Given the description of an element on the screen output the (x, y) to click on. 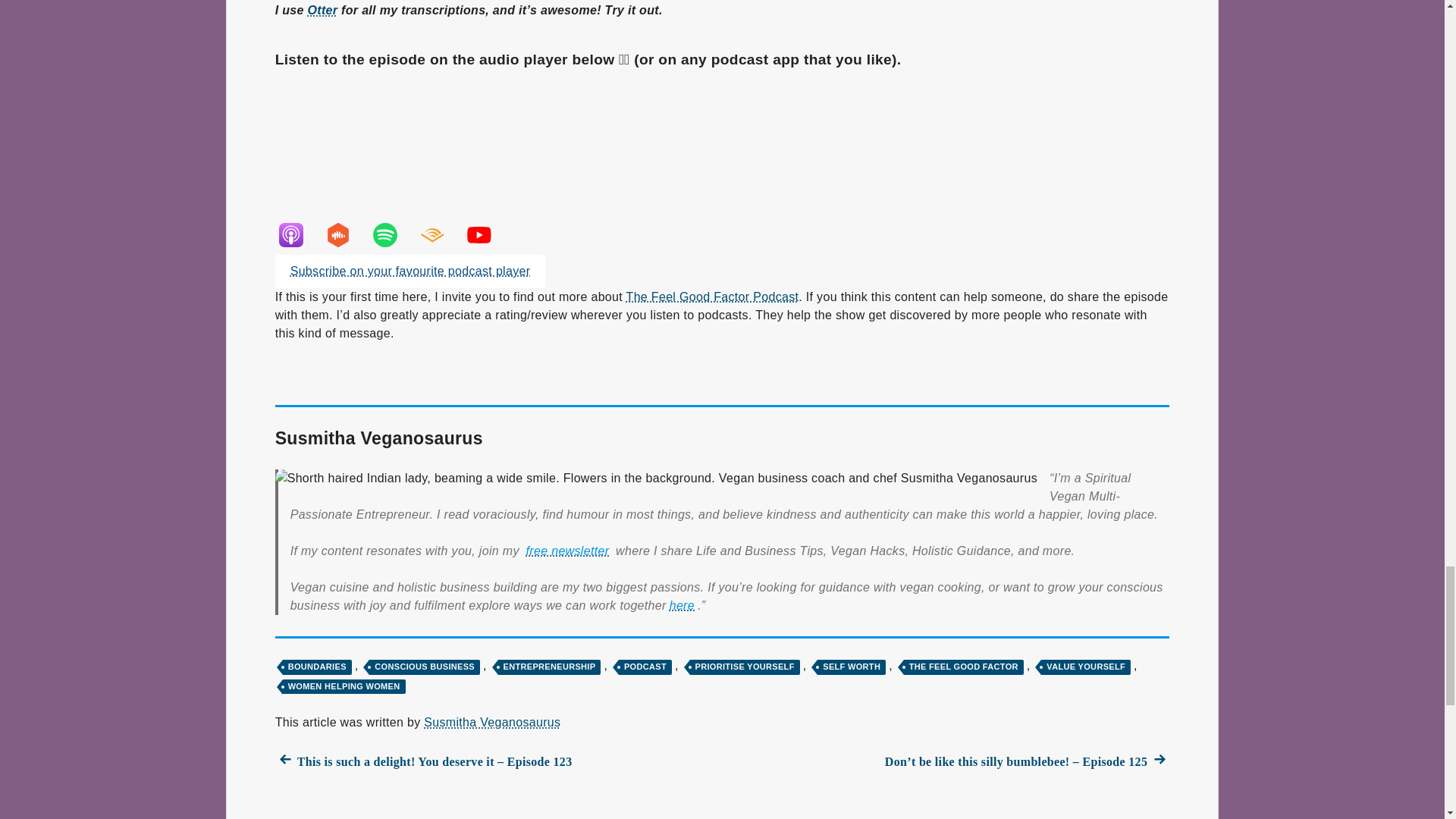
Audible (439, 234)
Otter (322, 10)
Apple-Podcasts (298, 234)
YouTube (487, 234)
Spotify (392, 234)
CastBox (345, 234)
